Given the description of an element on the screen output the (x, y) to click on. 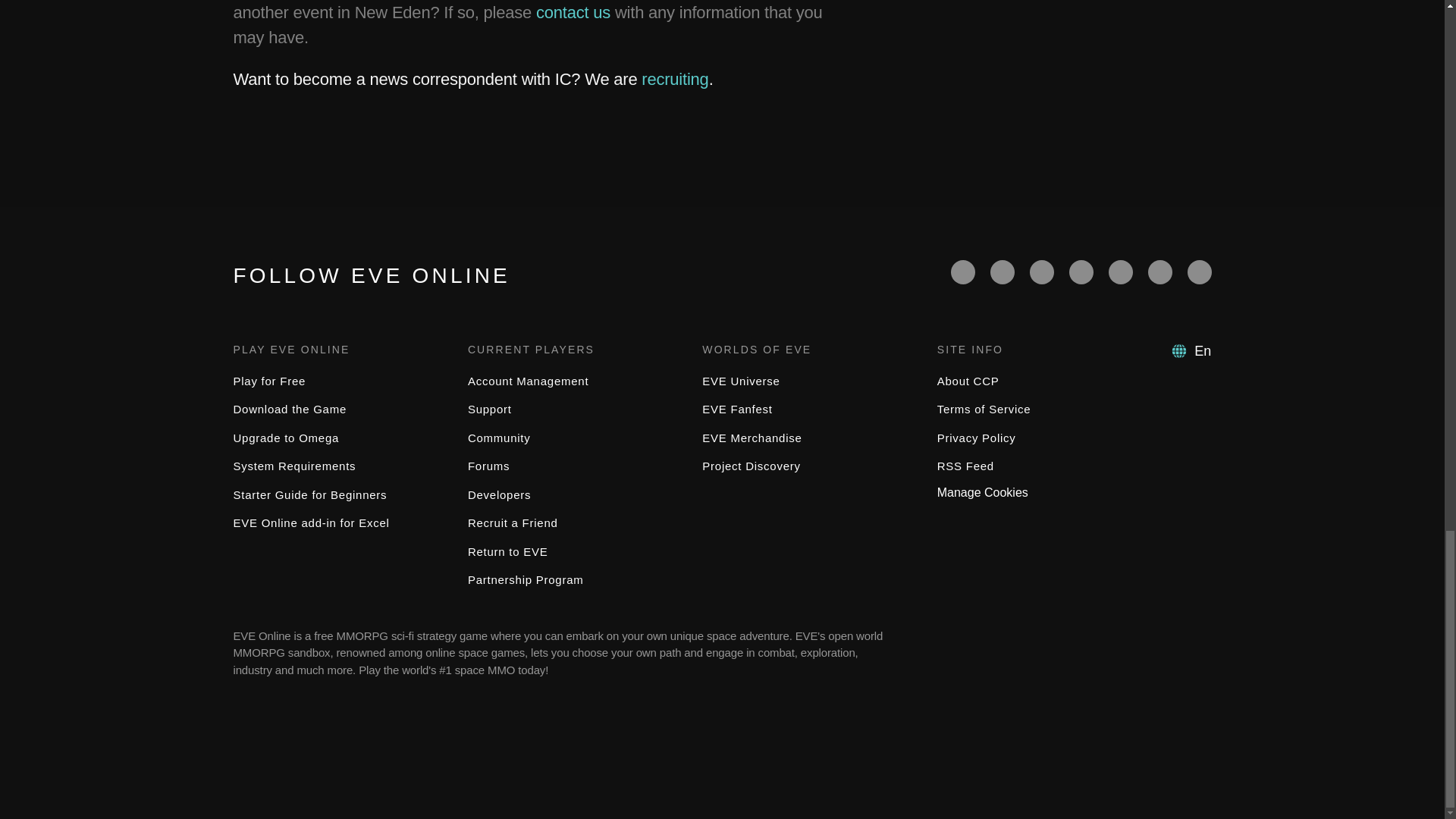
YouTube (1041, 272)
Twitter (1002, 272)
VK (1199, 272)
Support (489, 408)
Play for Free (268, 380)
Download the Game (289, 408)
System Requirements (294, 465)
EVE Online add-in for Excel (311, 522)
Twitch (1080, 272)
Account Management (527, 380)
